Given the description of an element on the screen output the (x, y) to click on. 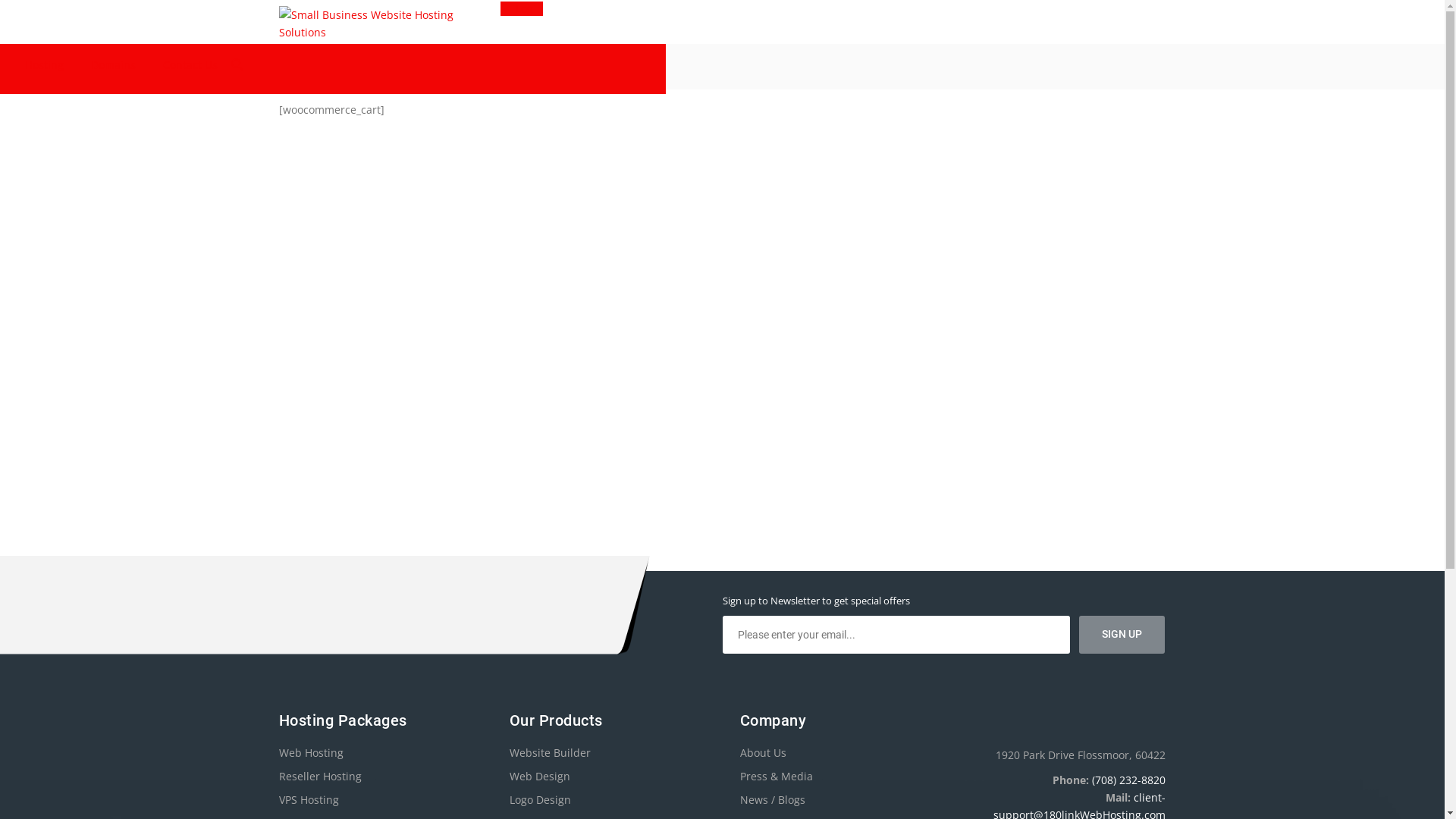
Logo Design Element type: text (540, 799)
Hosting Element type: text (44, 68)
Web Design Element type: text (539, 775)
  Login Element type: text (521, 8)
Sign Up Element type: text (1121, 634)
Web Hosting Element type: text (311, 752)
Website Builder Element type: text (549, 752)
Press & Media Element type: text (776, 775)
VPS Hosting Element type: text (308, 799)
Domains Element type: text (113, 68)
Contact Us Element type: text (190, 68)
News / Blogs Element type: text (772, 799)
About Us Element type: text (763, 752)
Reseller Hosting Element type: text (320, 775)
